Given the description of an element on the screen output the (x, y) to click on. 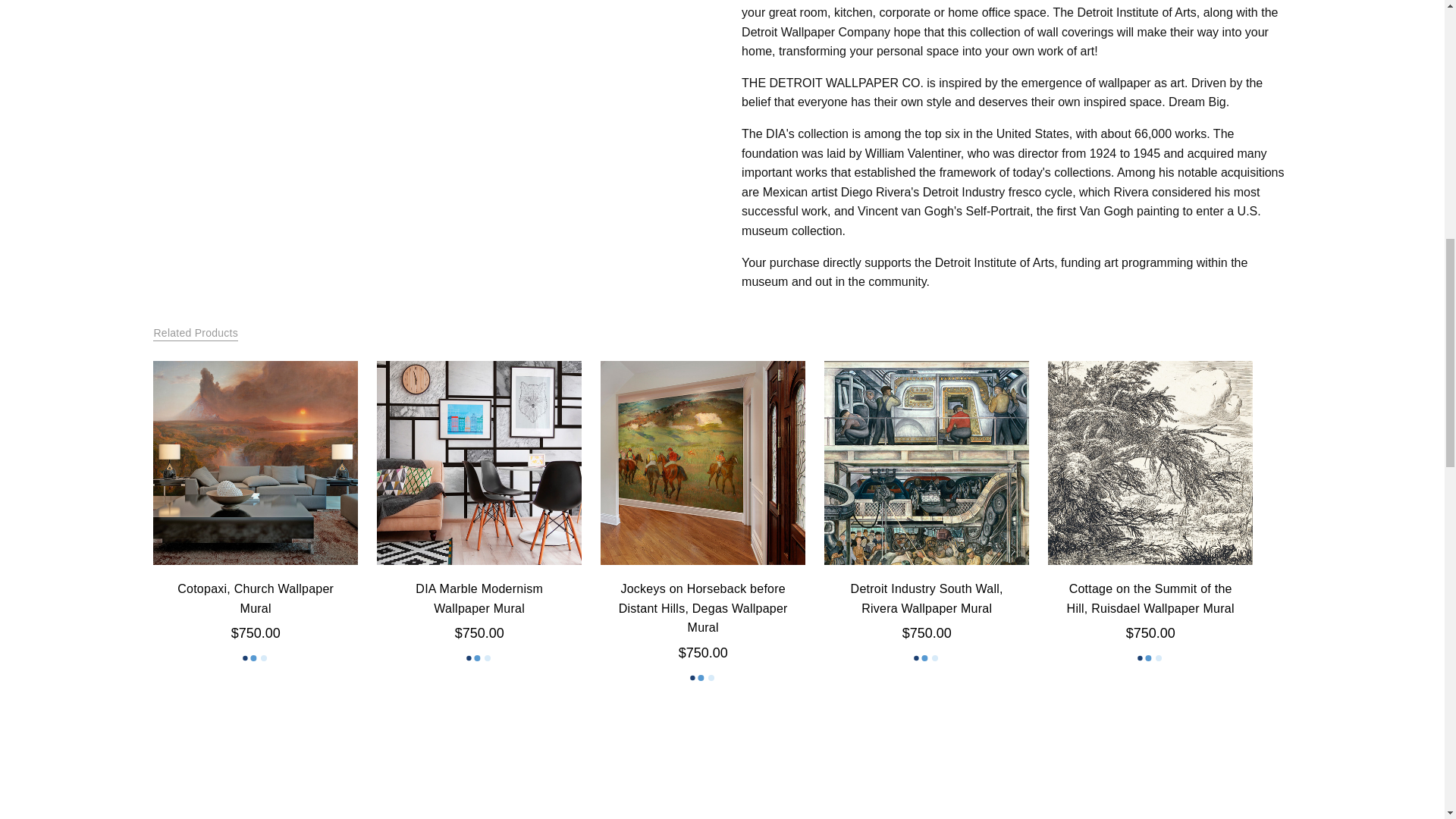
Cotopaxi, Church Wallpaper Mural (254, 463)
Cottage on the Summit of the Hill, Ruisdael Wallpaper Mural (1150, 463)
Detroit Industry South Wall, Rivera Wallpaper Mural (925, 463)
DIA Marble Modernism Wallpaper Mural (478, 463)
